Given the description of an element on the screen output the (x, y) to click on. 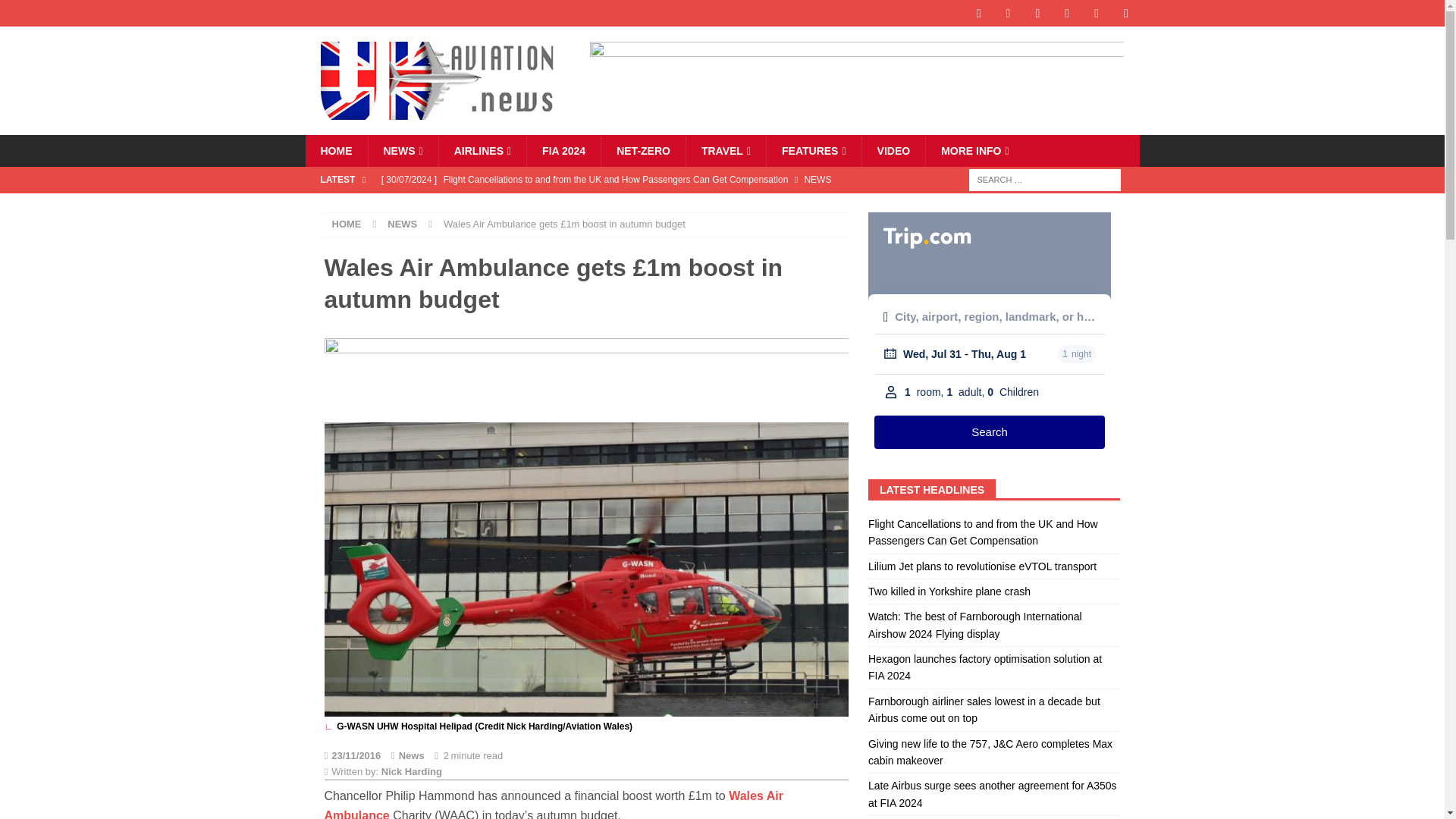
NEWS (402, 151)
NET-ZERO (642, 151)
HOME (335, 151)
UK Aviation News Twitter (1008, 13)
UK Aviation News RSS Feed (1126, 13)
Aviation Wales (335, 151)
UK Airline, Airport and Aviation News (402, 151)
FIA 2024 (562, 151)
AIRLINES (481, 151)
TRAVEL (725, 151)
Instagram (1038, 13)
UK Aviation News on Facebook (978, 13)
UK Aviation News on Youtube (1096, 13)
